Given the description of an element on the screen output the (x, y) to click on. 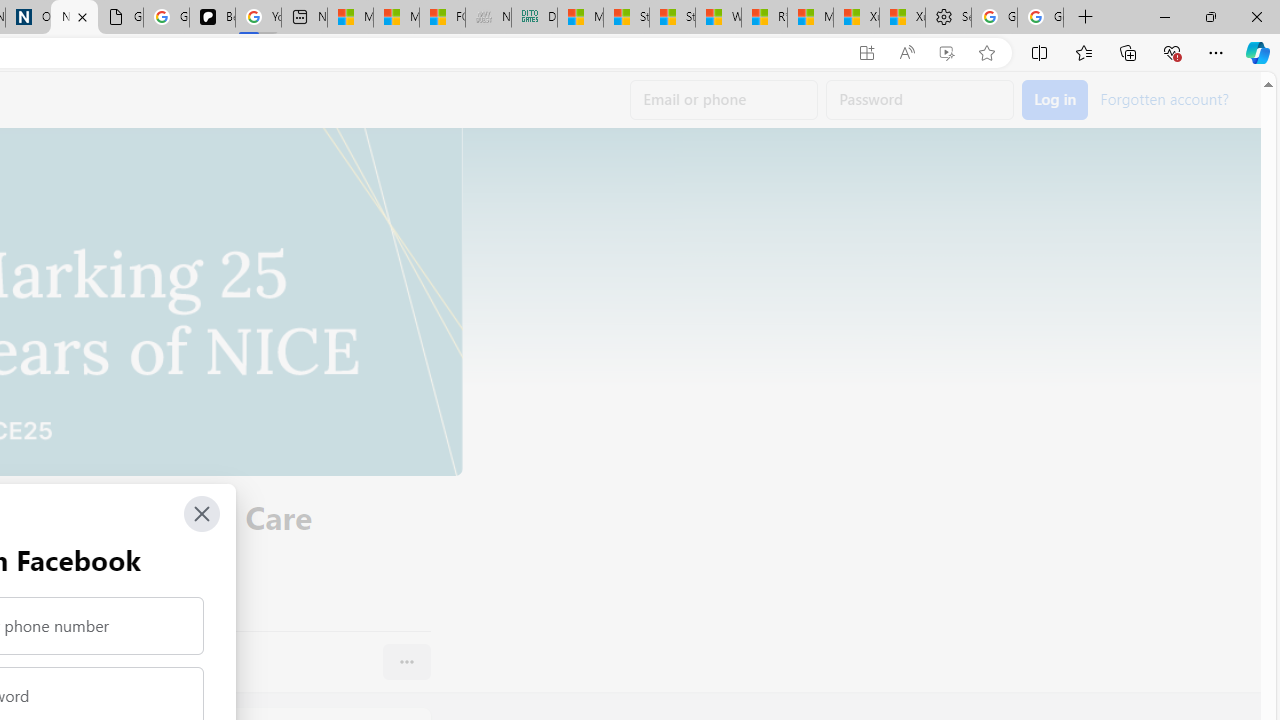
App available. Install Facebook (867, 53)
Email or phone (724, 99)
Google Analytics Opt-out Browser Add-on Download Page (120, 17)
Accessible login button (1055, 99)
